Given the description of an element on the screen output the (x, y) to click on. 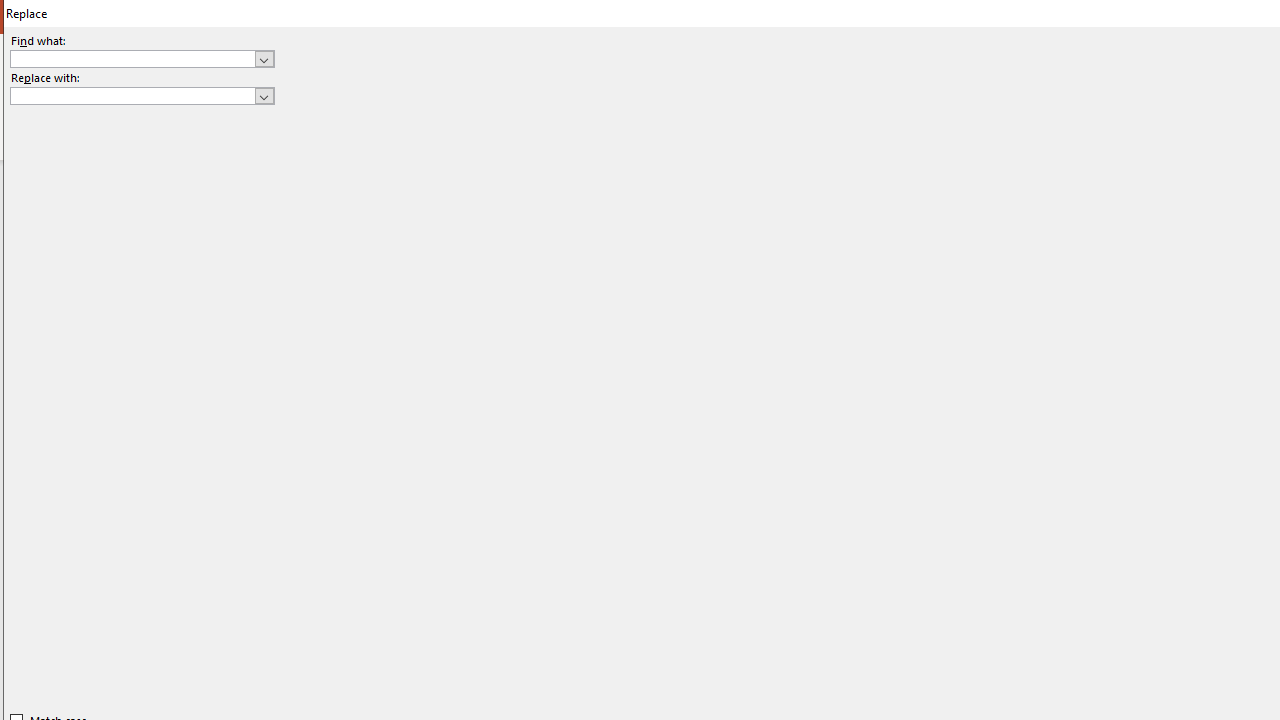
Find what (142, 58)
Find what (132, 58)
Replace with (132, 95)
Replace with (142, 96)
